Given the description of an element on the screen output the (x, y) to click on. 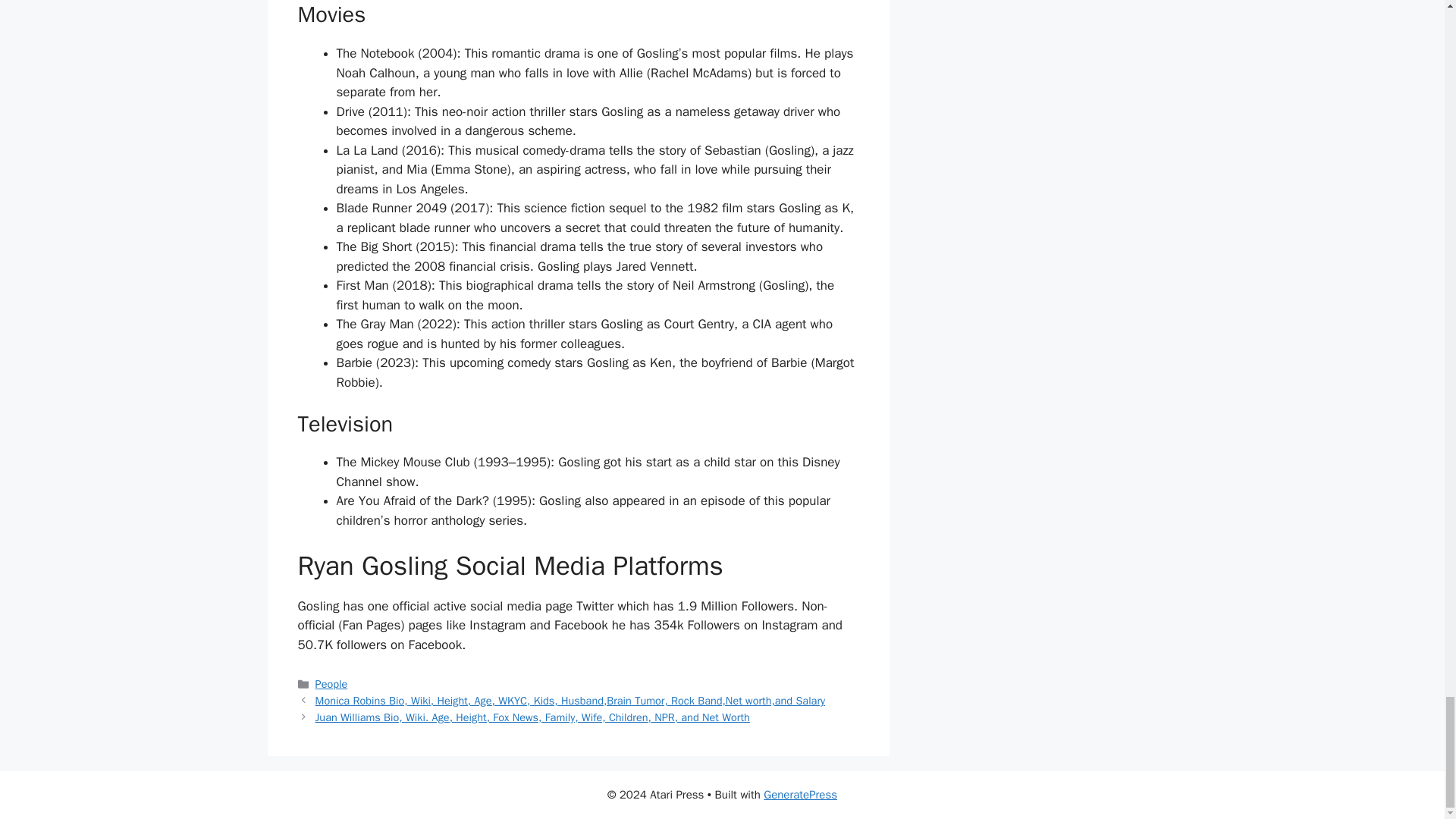
GeneratePress (799, 794)
People (331, 684)
